Given the description of an element on the screen output the (x, y) to click on. 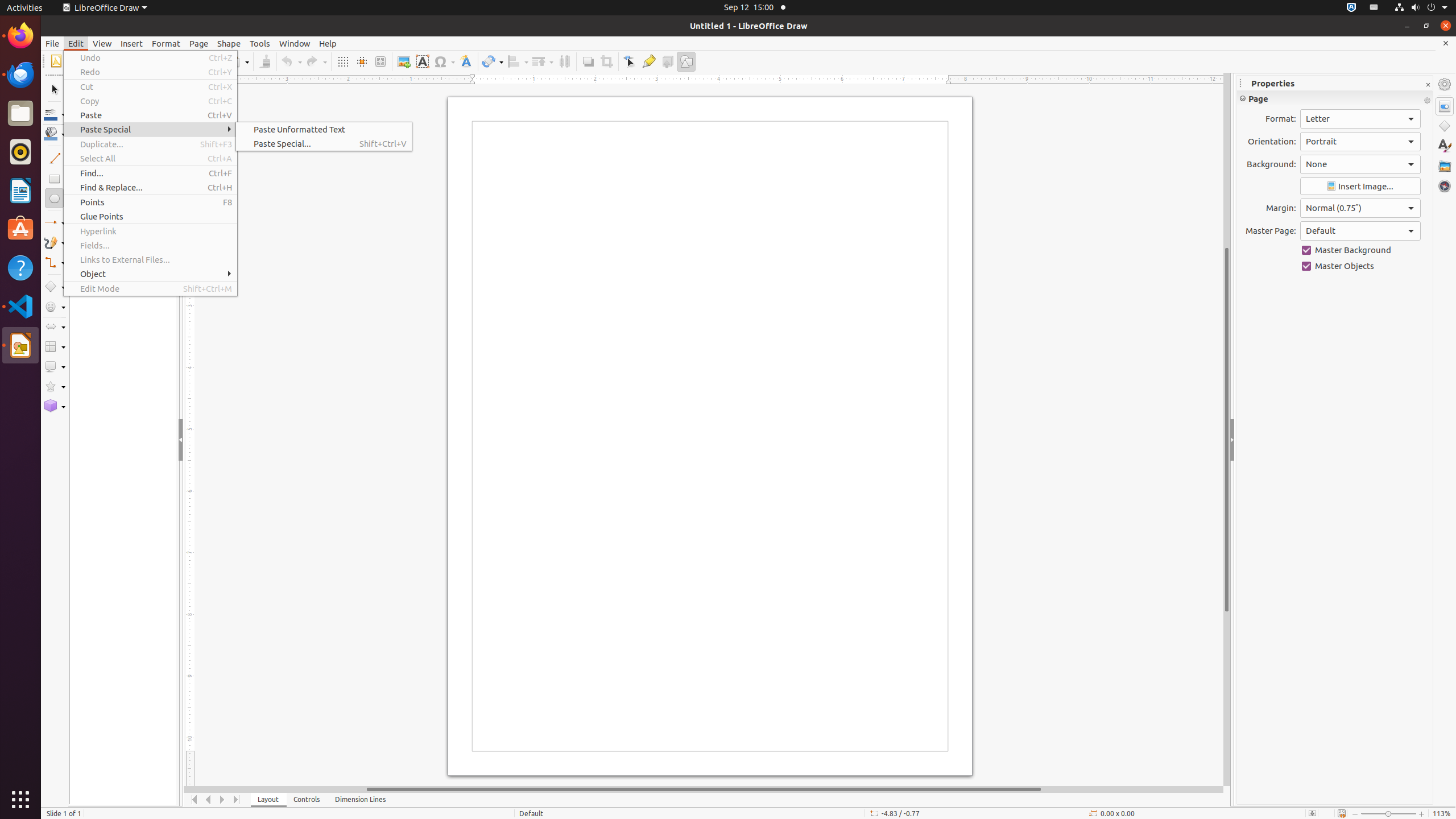
Dimension Lines Element type: page-tab (360, 799)
Glue Points Element type: check-menu-item (150, 216)
Object Element type: menu (150, 273)
System Element type: menu (1420, 7)
Duplicate... Element type: menu-item (150, 144)
